Given the description of an element on the screen output the (x, y) to click on. 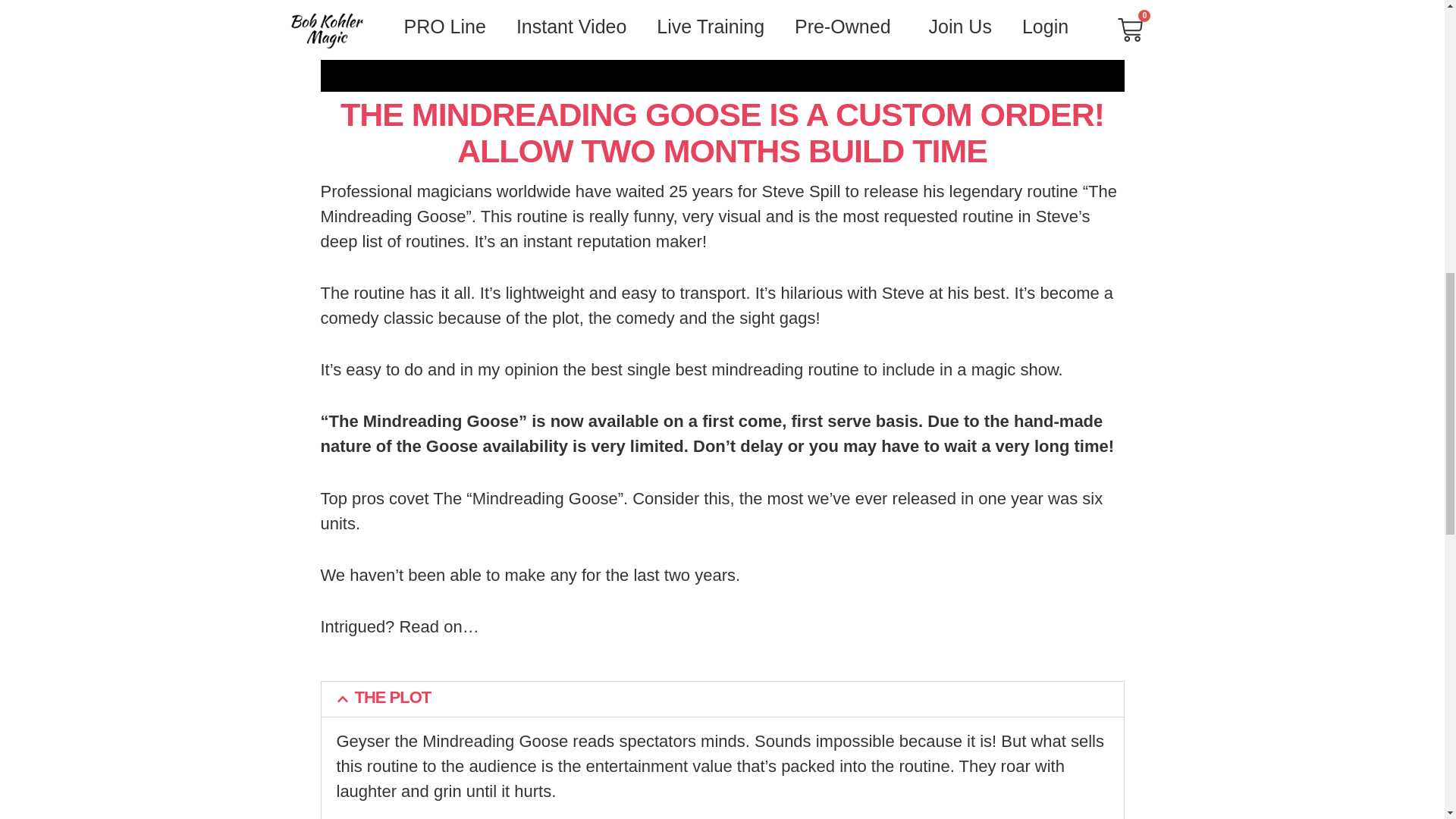
vimeo Video Player (722, 45)
